Given the description of an element on the screen output the (x, y) to click on. 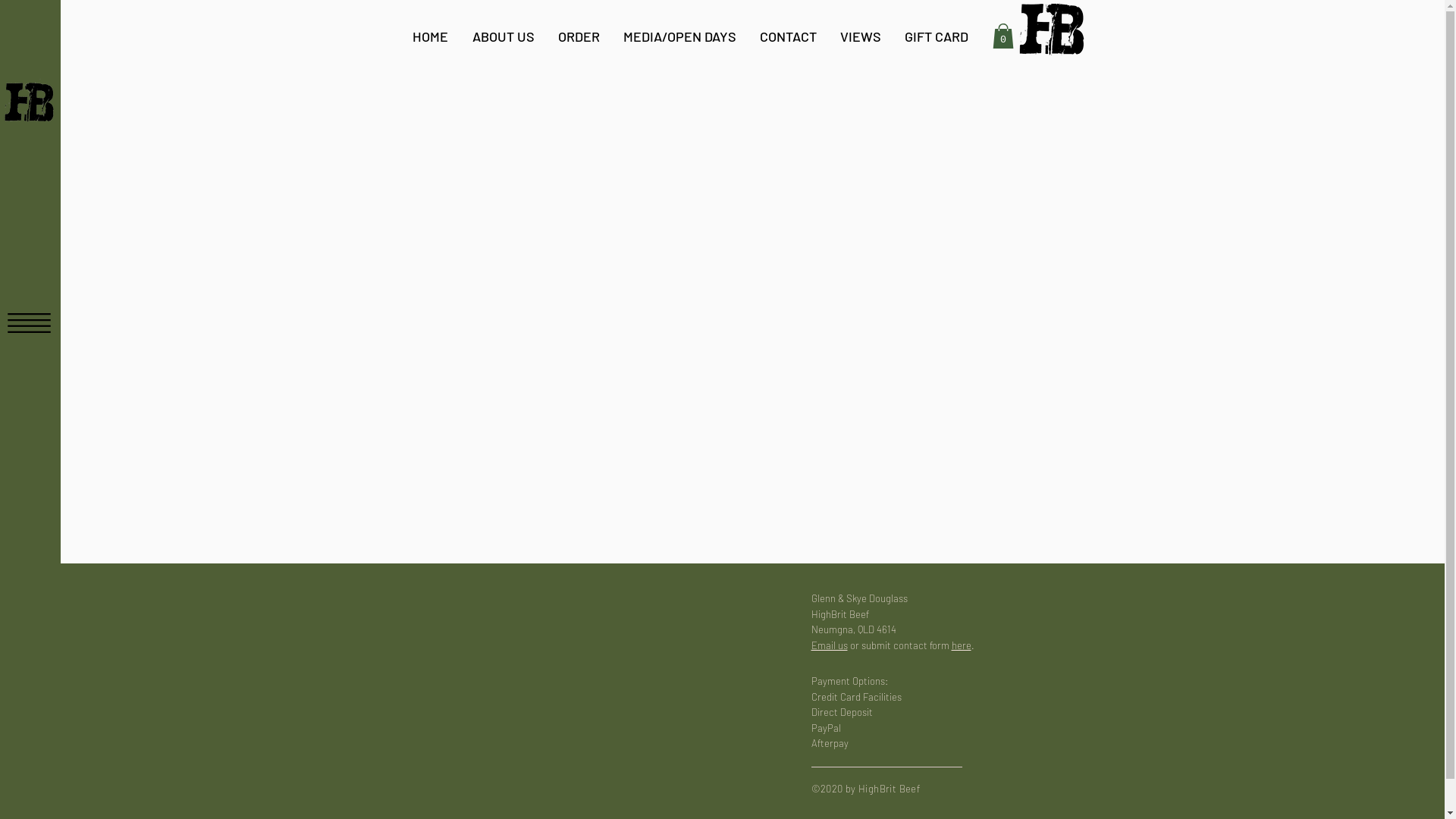
CONTACT Element type: text (787, 36)
ORDER Element type: text (578, 36)
ABOUT US Element type: text (502, 36)
Email us Element type: text (829, 644)
0 Element type: text (1002, 35)
Embedded Content Element type: hover (578, 676)
VIEWS Element type: text (860, 36)
GIFT CARD Element type: text (936, 36)
HOME Element type: text (430, 36)
here Element type: text (960, 644)
MEDIA/OPEN DAYS Element type: text (679, 36)
